Given the description of an element on the screen output the (x, y) to click on. 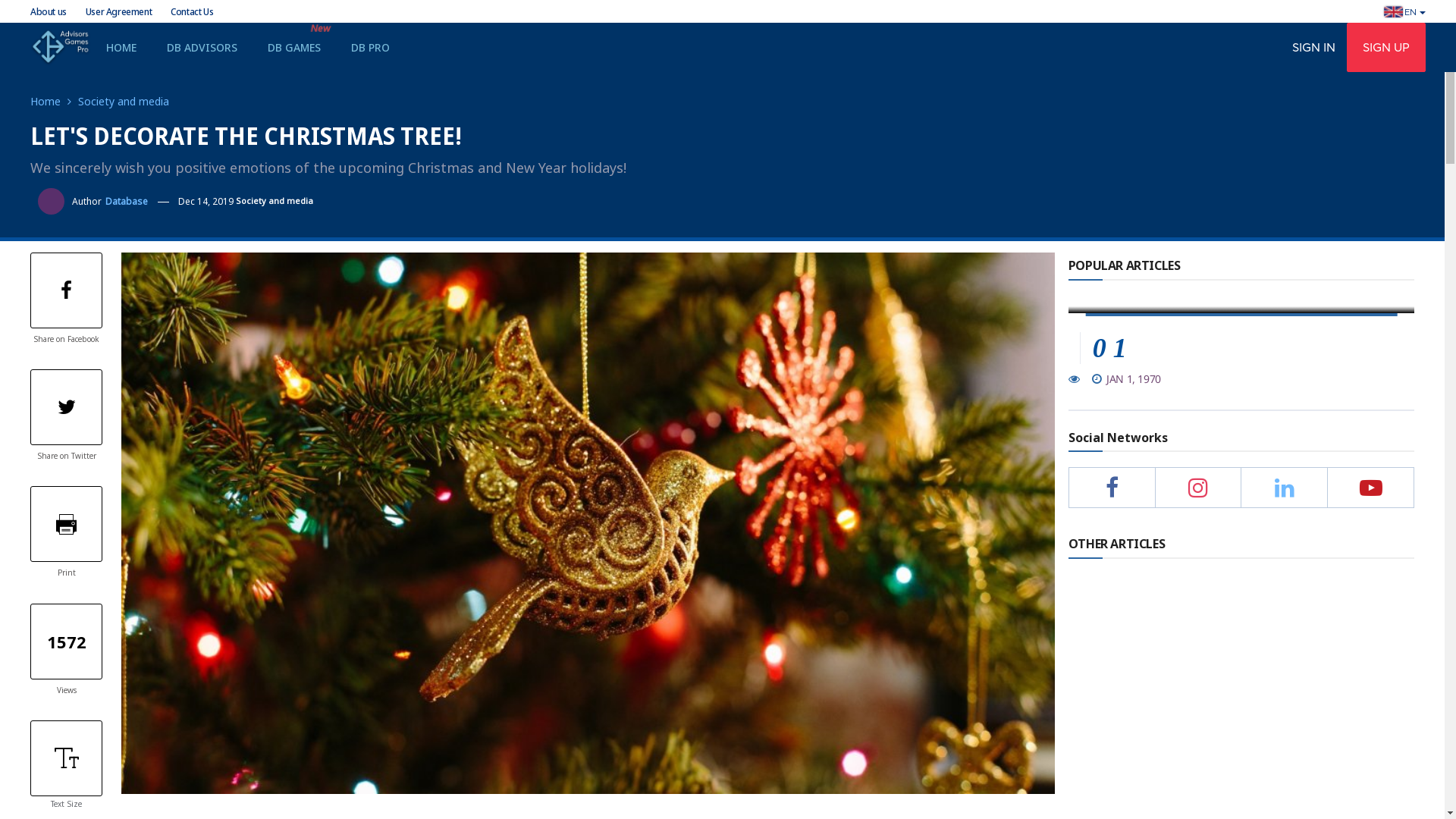
DB PRO Element type: text (370, 47)
Text Size Element type: text (66, 764)
Share on Twitter Element type: text (66, 415)
Contact Us Element type: text (191, 11)
EN Element type: text (1404, 12)
Print Element type: text (66, 532)
SIGN IN Element type: text (1313, 47)
Share on Facebook Element type: text (66, 298)
About us Element type: text (48, 11)
Society and media Element type: text (123, 101)
Database Element type: text (126, 200)
DB GAMES
New Element type: text (293, 47)
Society and media Element type: text (274, 200)
Home Element type: text (50, 101)
SIGN UP Element type: text (1385, 47)
DB ADVISORS Element type: text (201, 47)
1572
Views Element type: text (66, 649)
User Agreement Element type: text (118, 11)
HOME Element type: text (121, 47)
